Given the description of an element on the screen output the (x, y) to click on. 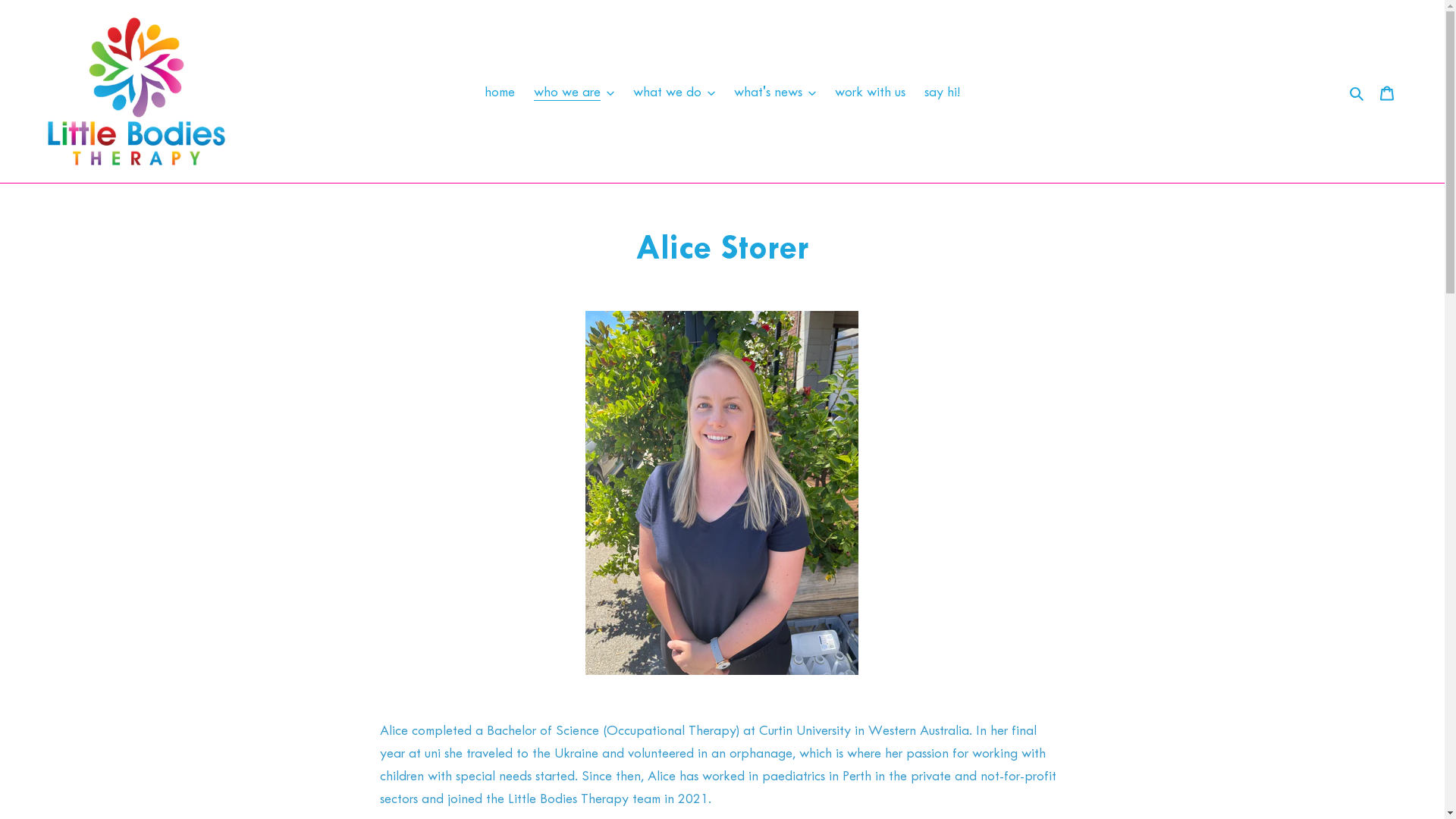
Cart Element type: text (1386, 91)
work with us Element type: text (870, 91)
Search Element type: text (1357, 91)
who we are Element type: text (573, 91)
say hi! Element type: text (941, 91)
what we do Element type: text (673, 91)
home Element type: text (499, 91)
what's news Element type: text (774, 91)
